Given the description of an element on the screen output the (x, y) to click on. 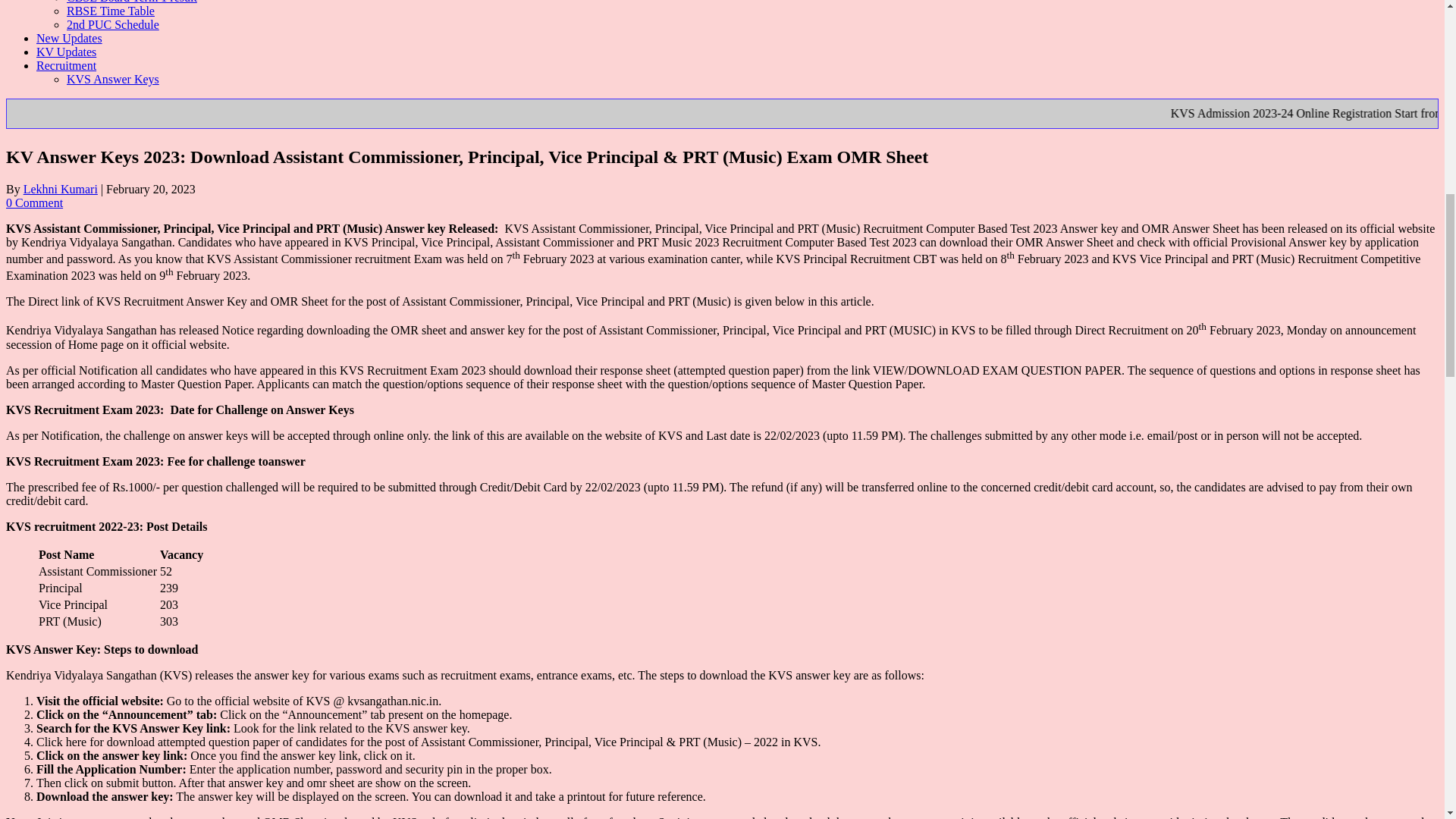
Posts by Lekhni Kumari (60, 188)
